Given the description of an element on the screen output the (x, y) to click on. 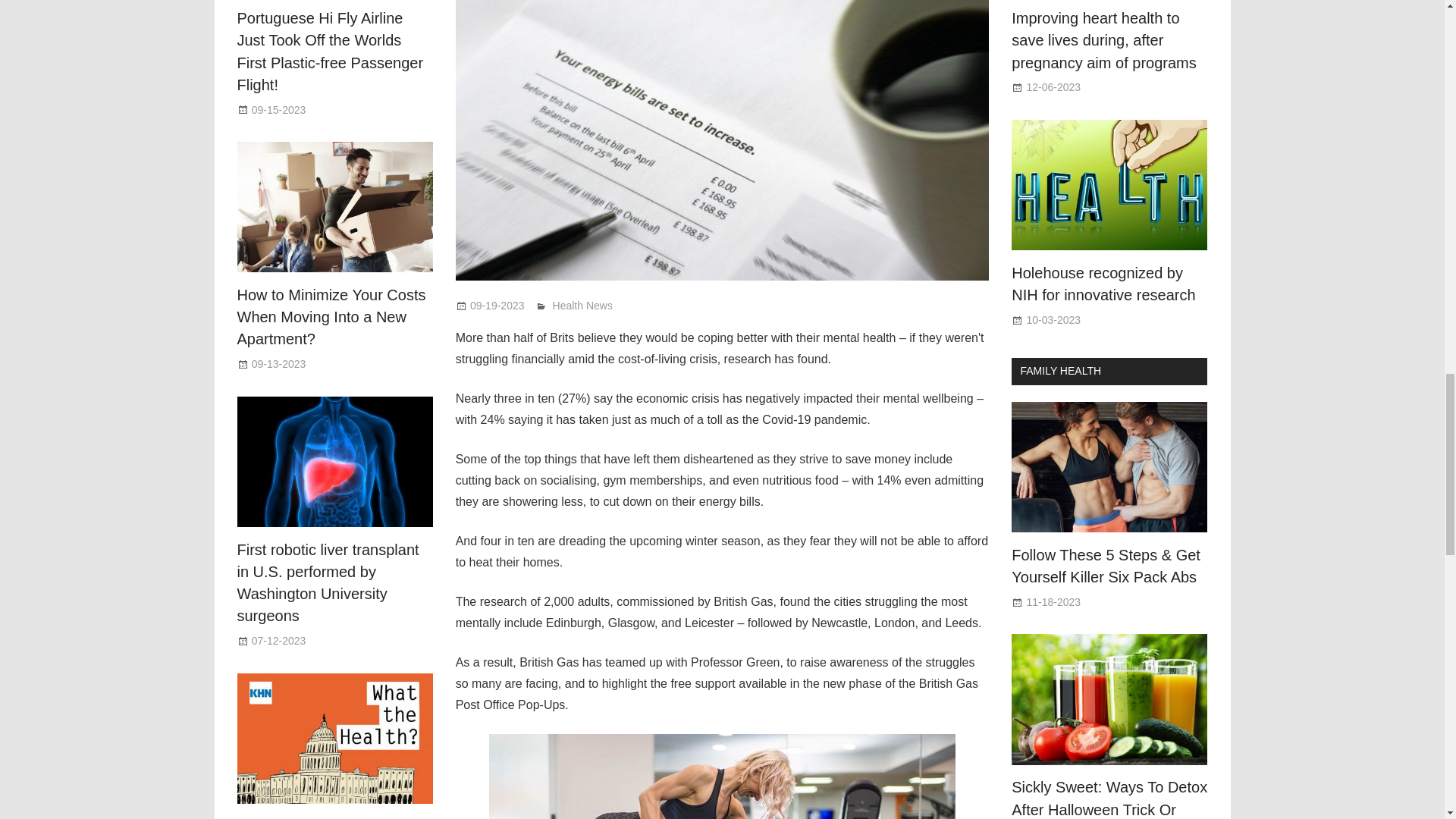
Health News (582, 305)
View all posts by mediabest (577, 305)
10:31 (278, 363)
09-15-2023 (278, 110)
09-13-2023 (278, 363)
22:40 (1053, 87)
20:32 (1053, 319)
View all posts from category Family Health (1060, 370)
How to Minimize Your Costs When Moving Into a New Apartment? (330, 317)
09-19-2023 (497, 305)
mediabest (577, 305)
07-12-2023 (278, 640)
